Given the description of an element on the screen output the (x, y) to click on. 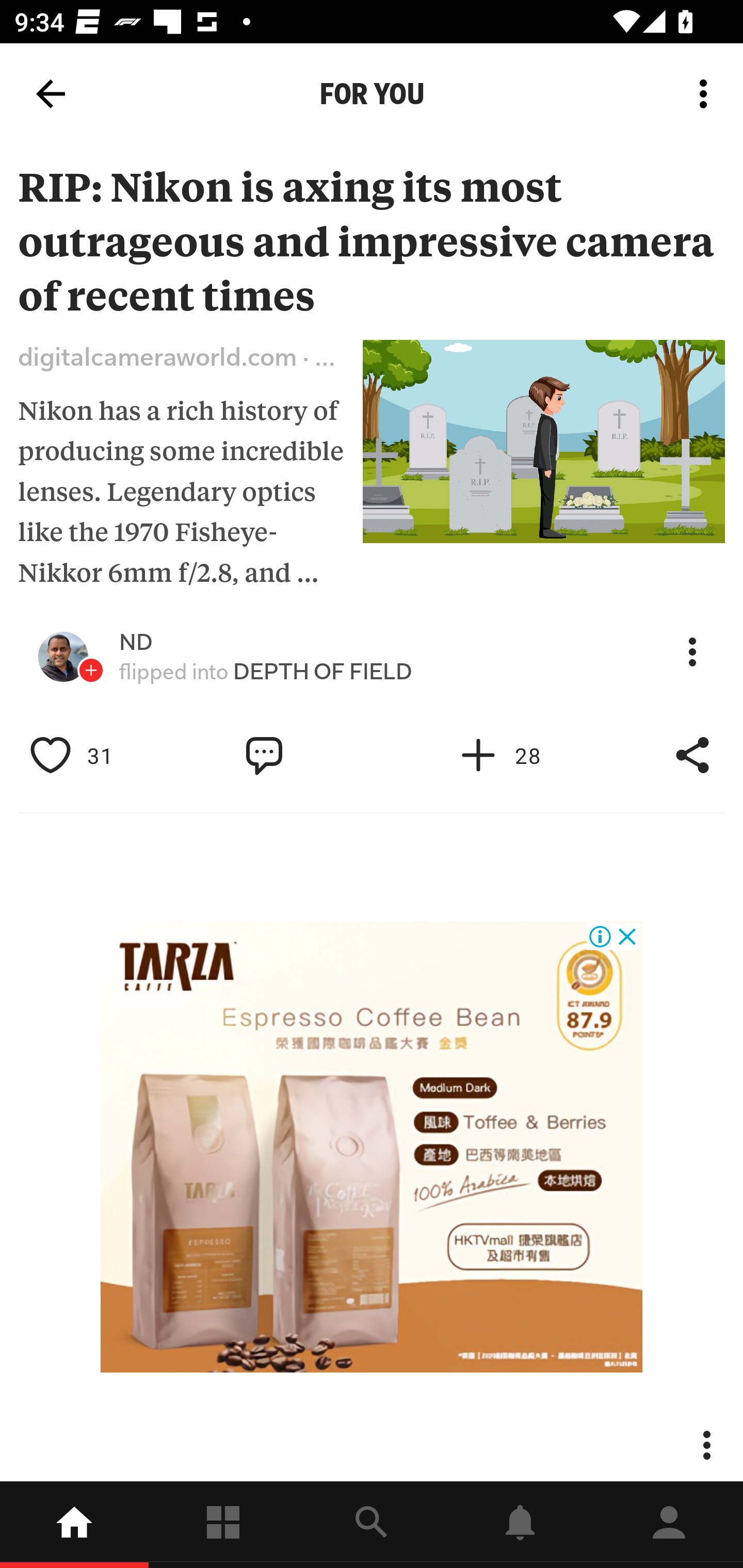
Back (50, 93)
FOR YOU (371, 93)
More options (706, 93)
More (692, 651)
ND (135, 641)
flipped into DEPTH OF FIELD (265, 671)
Like 31 (93, 755)
Write a comment… (307, 755)
Flip into Magazine 28 (521, 755)
Share (692, 755)
home (74, 1524)
Following (222, 1524)
explore (371, 1524)
Notifications (519, 1524)
Profile (668, 1524)
